Given the description of an element on the screen output the (x, y) to click on. 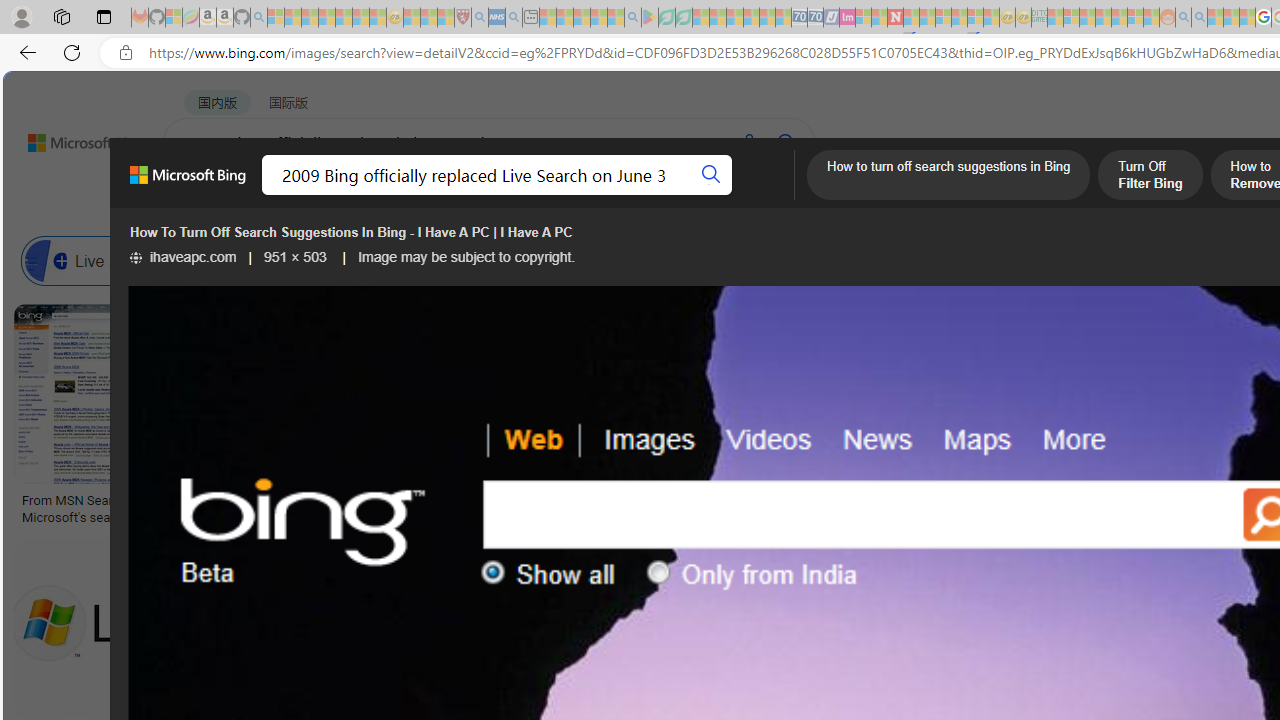
Microsoft Live Logo (598, 500)
Local - MSN - Sleeping (445, 17)
How to turn off search suggestions in Bing (948, 177)
Turn Off Filter Bing (1150, 177)
Cheap Car Rentals - Save70.com - Sleeping (799, 17)
Bing Ai Search Engine Powered (830, 260)
